Given the description of an element on the screen output the (x, y) to click on. 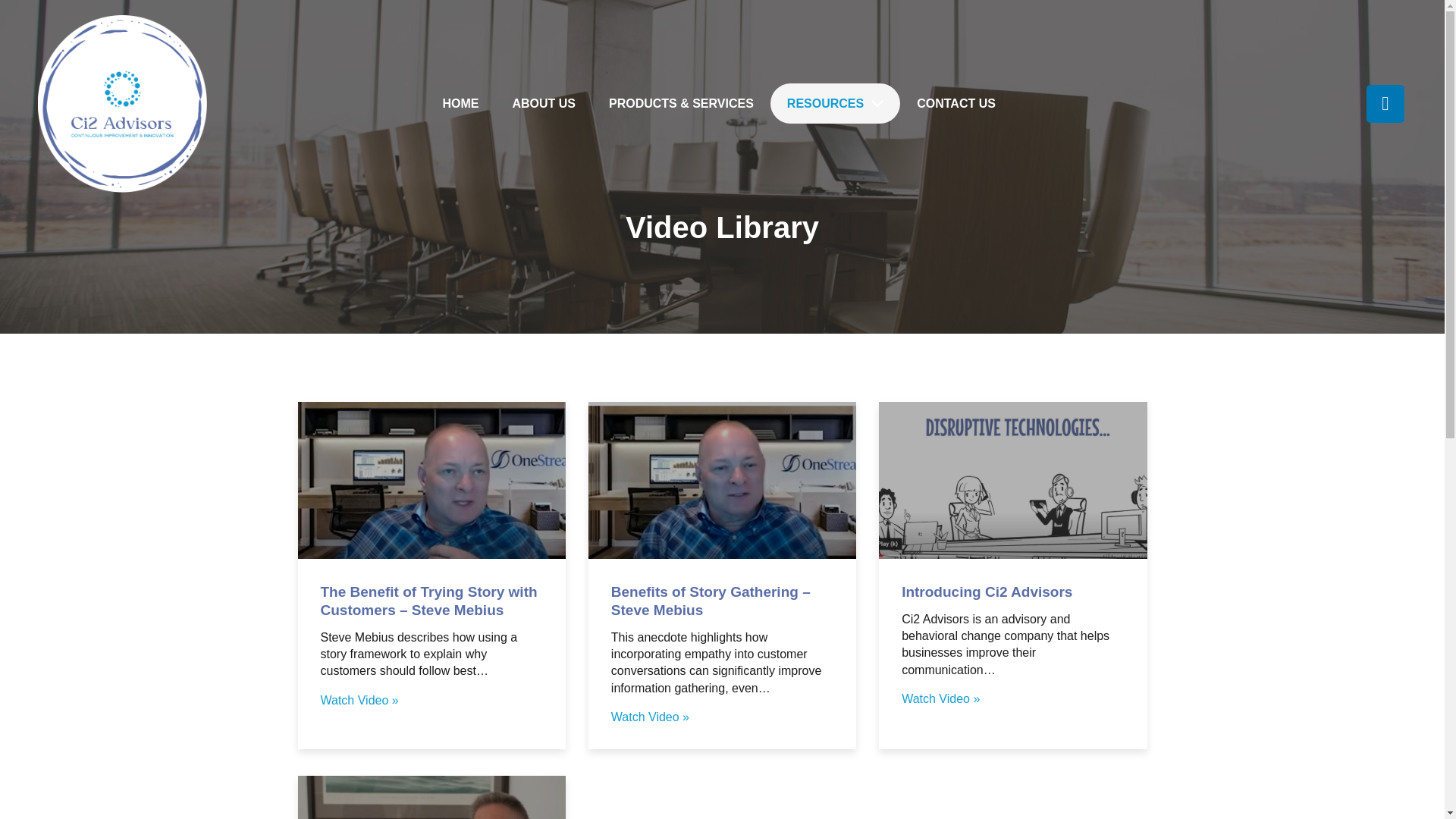
Introducing Ci2 Advisors (986, 591)
ABOUT US (543, 103)
HOME (460, 103)
RESOURCES (834, 103)
CONTACT US (955, 103)
